Given the description of an element on the screen output the (x, y) to click on. 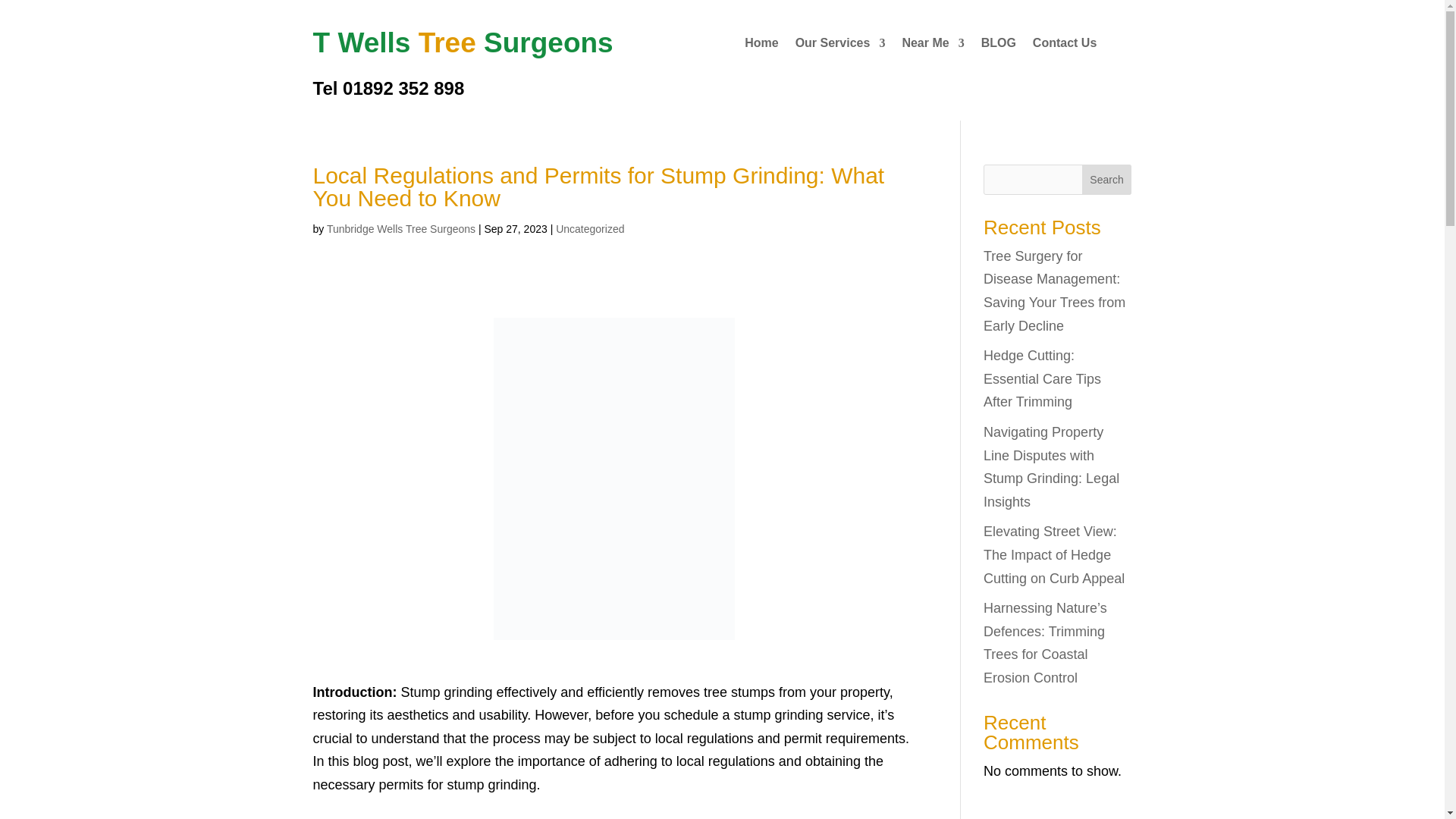
Near Me (932, 45)
Posts by Tunbridge Wells Tree Surgeons (401, 228)
Home (760, 45)
Our Services (839, 45)
